Given the description of an element on the screen output the (x, y) to click on. 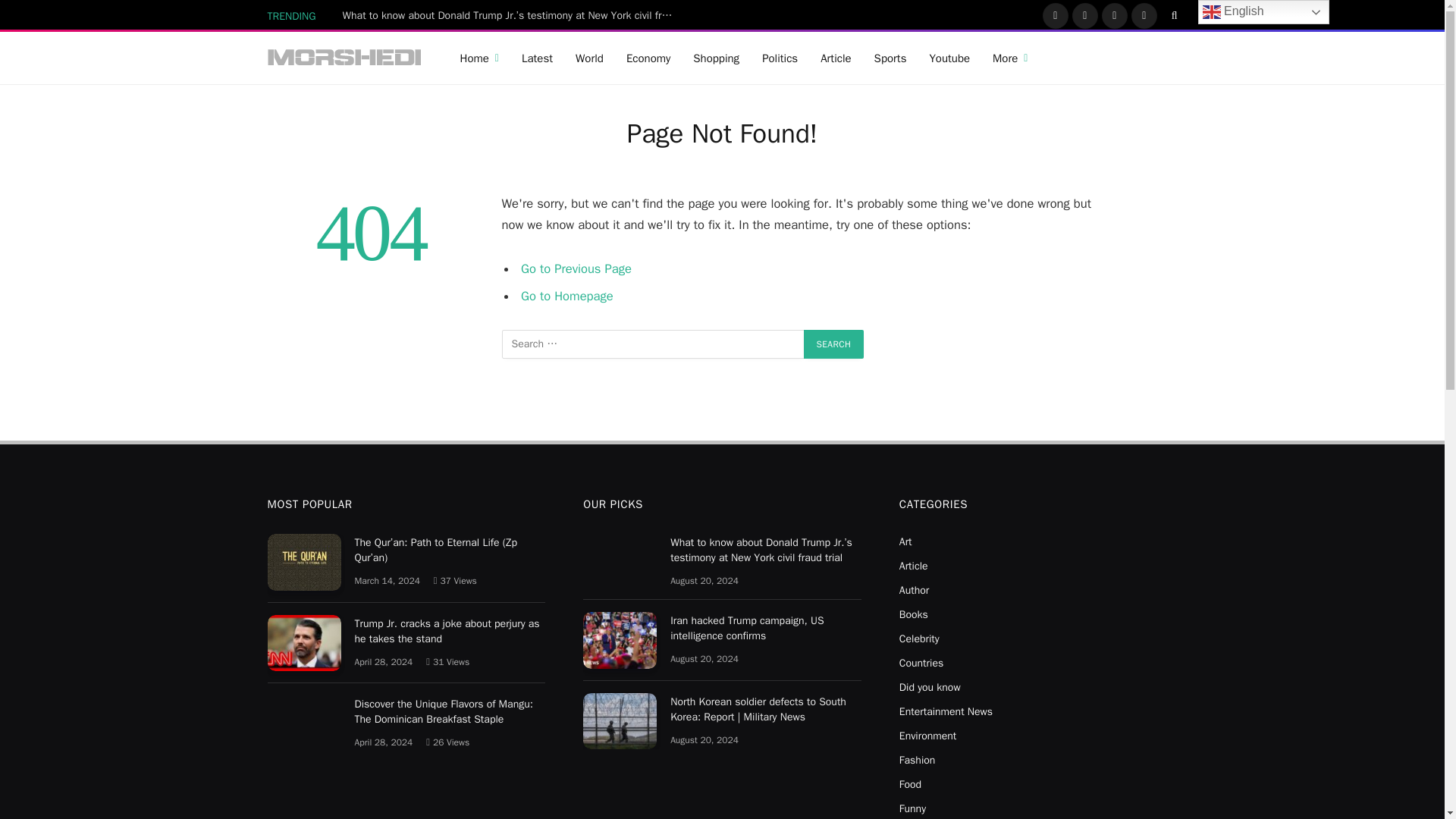
More (1010, 57)
Sports (890, 57)
MORSHEDI (344, 57)
Politics (780, 57)
Search (833, 344)
LinkedIn (1144, 15)
Search (833, 344)
31 Article Views (447, 662)
Article (835, 57)
Trump Jr. cracks a joke about perjury as he takes the stand (303, 643)
